Given the description of an element on the screen output the (x, y) to click on. 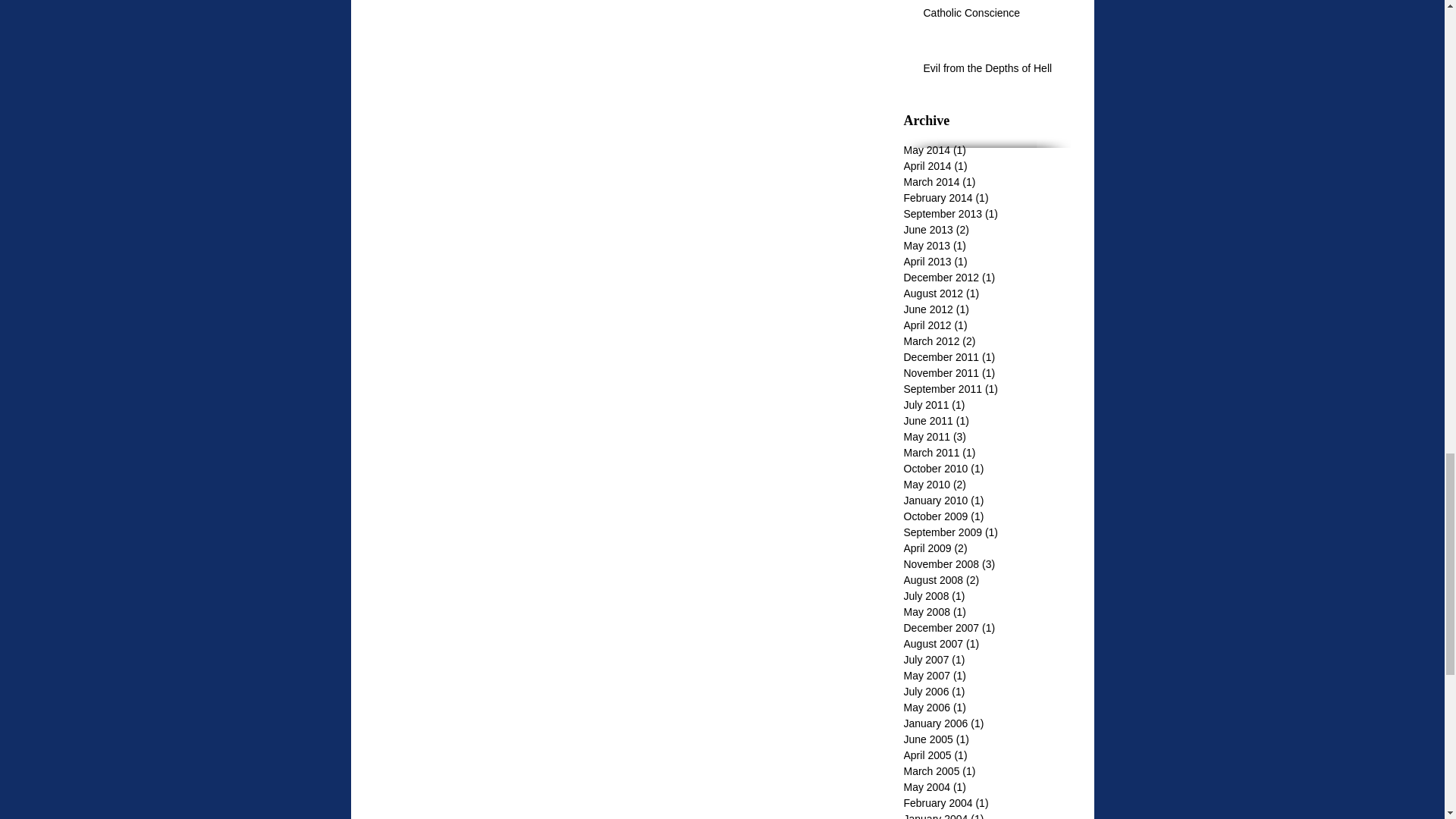
Catholic Conscience (992, 16)
Evil from the Depths of Hell (992, 71)
